Given the description of an element on the screen output the (x, y) to click on. 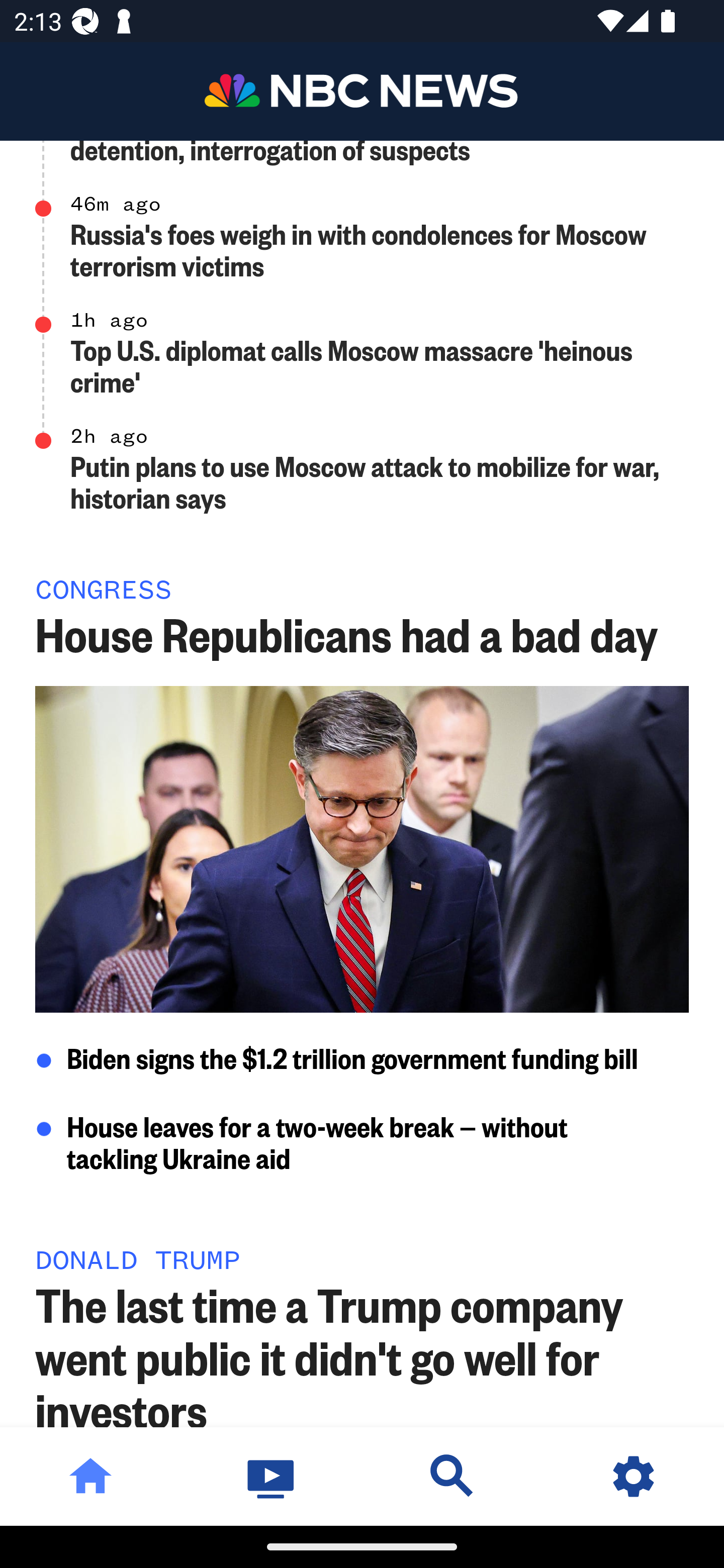
Watch (271, 1475)
Discover (452, 1475)
Settings (633, 1475)
